Given the description of an element on the screen output the (x, y) to click on. 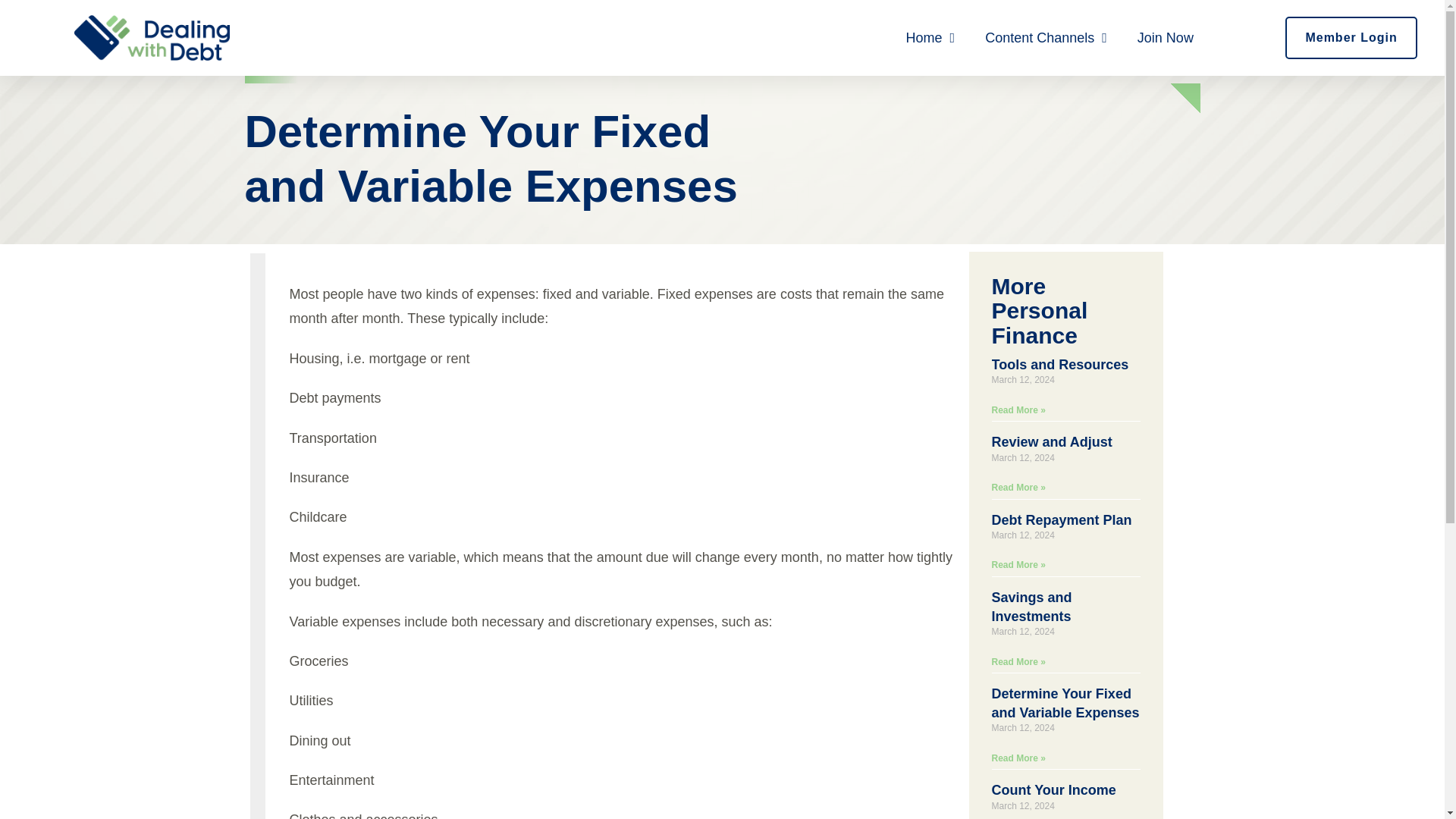
Join Now (1165, 37)
Content Channels (1045, 37)
Member Login (1350, 37)
Home (931, 37)
